Given the description of an element on the screen output the (x, y) to click on. 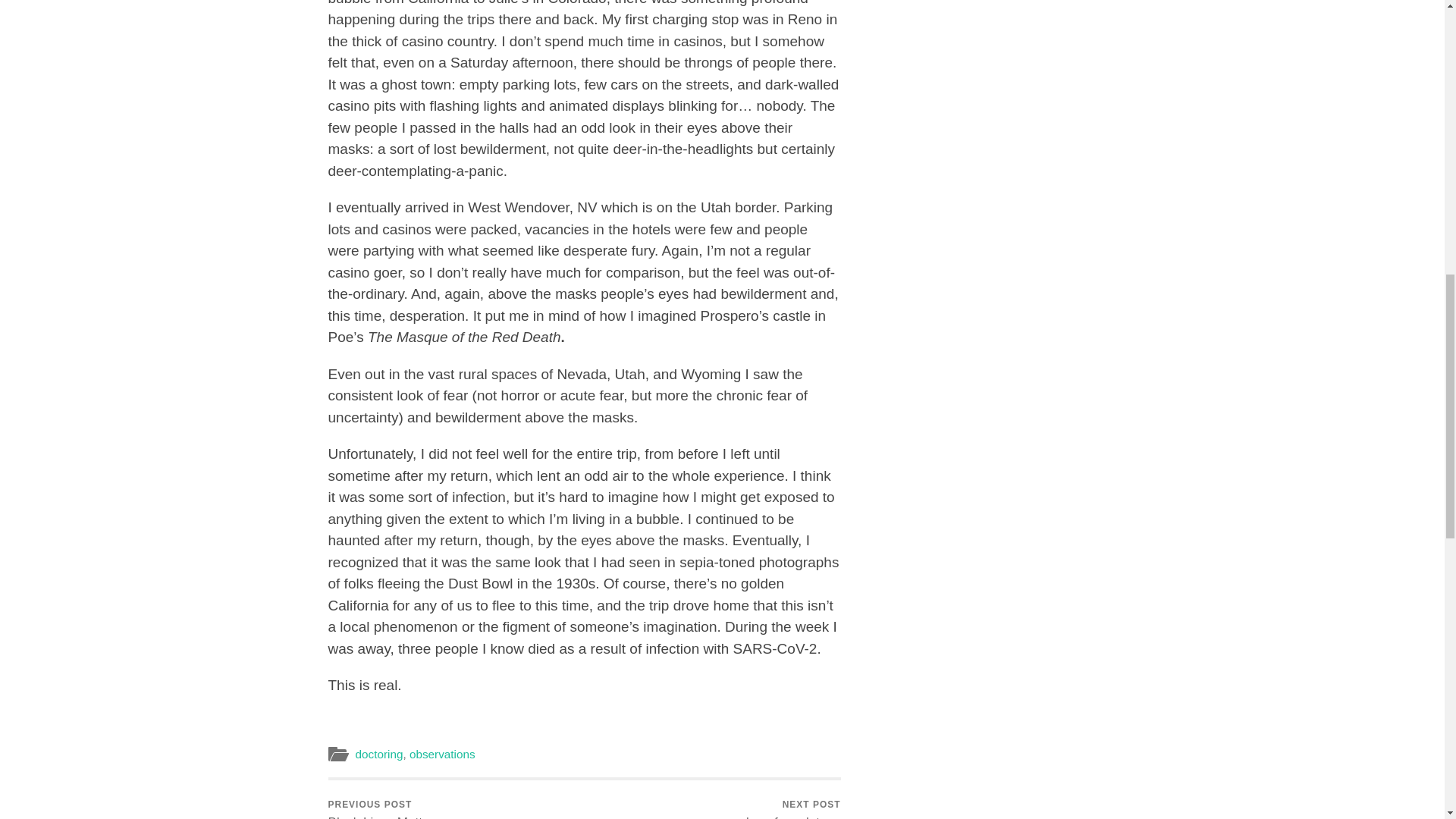
observations (442, 753)
doctoring (380, 799)
